Given the description of an element on the screen output the (x, y) to click on. 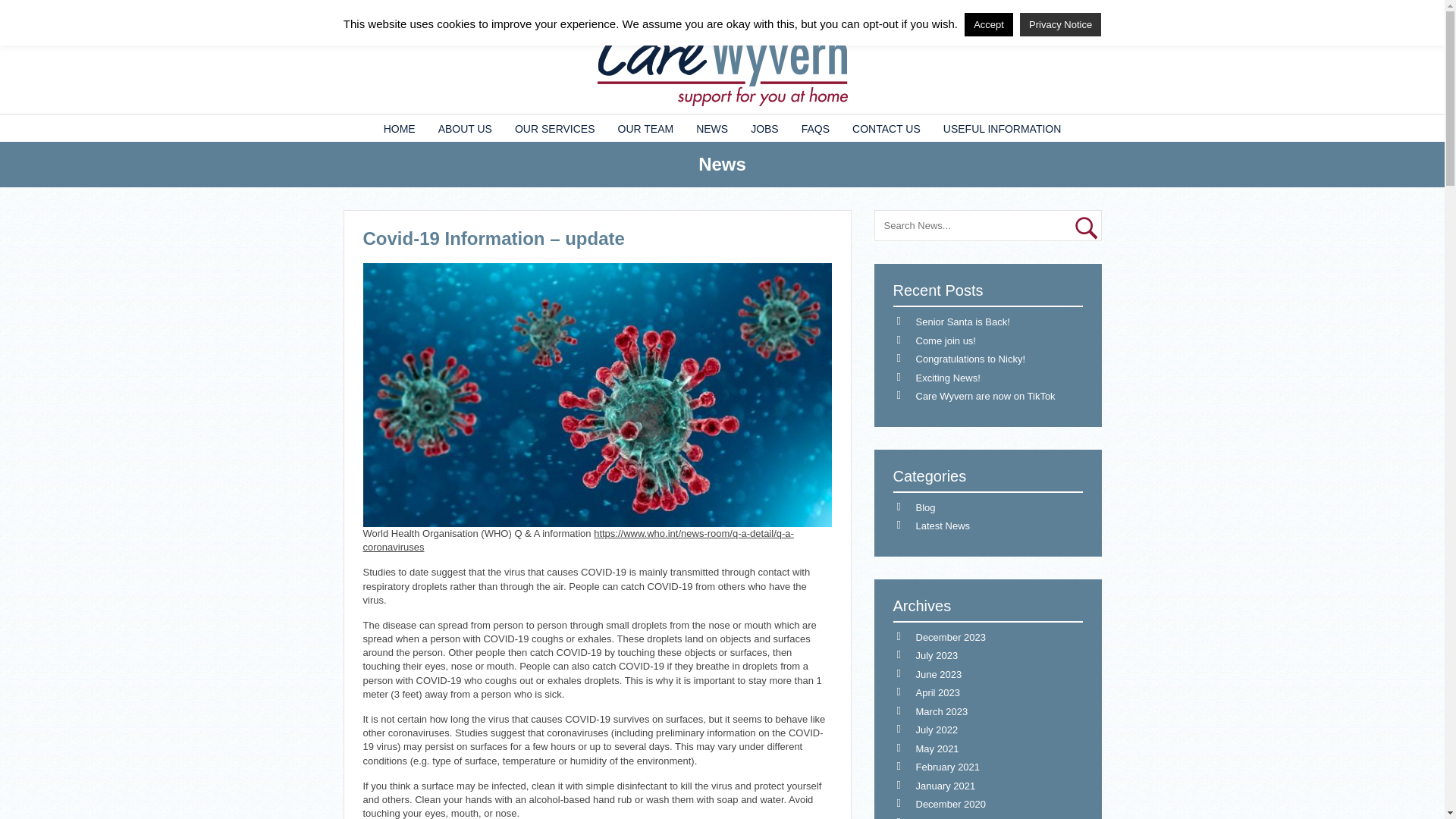
FAQS (815, 127)
JOBS (764, 127)
OUR SERVICES (555, 127)
A (1089, 11)
HOME (399, 127)
CONTACT US (886, 127)
ABOUT US (464, 127)
NEWS (711, 127)
Staff Login (377, 11)
OUR TEAM (646, 127)
